Given the description of an element on the screen output the (x, y) to click on. 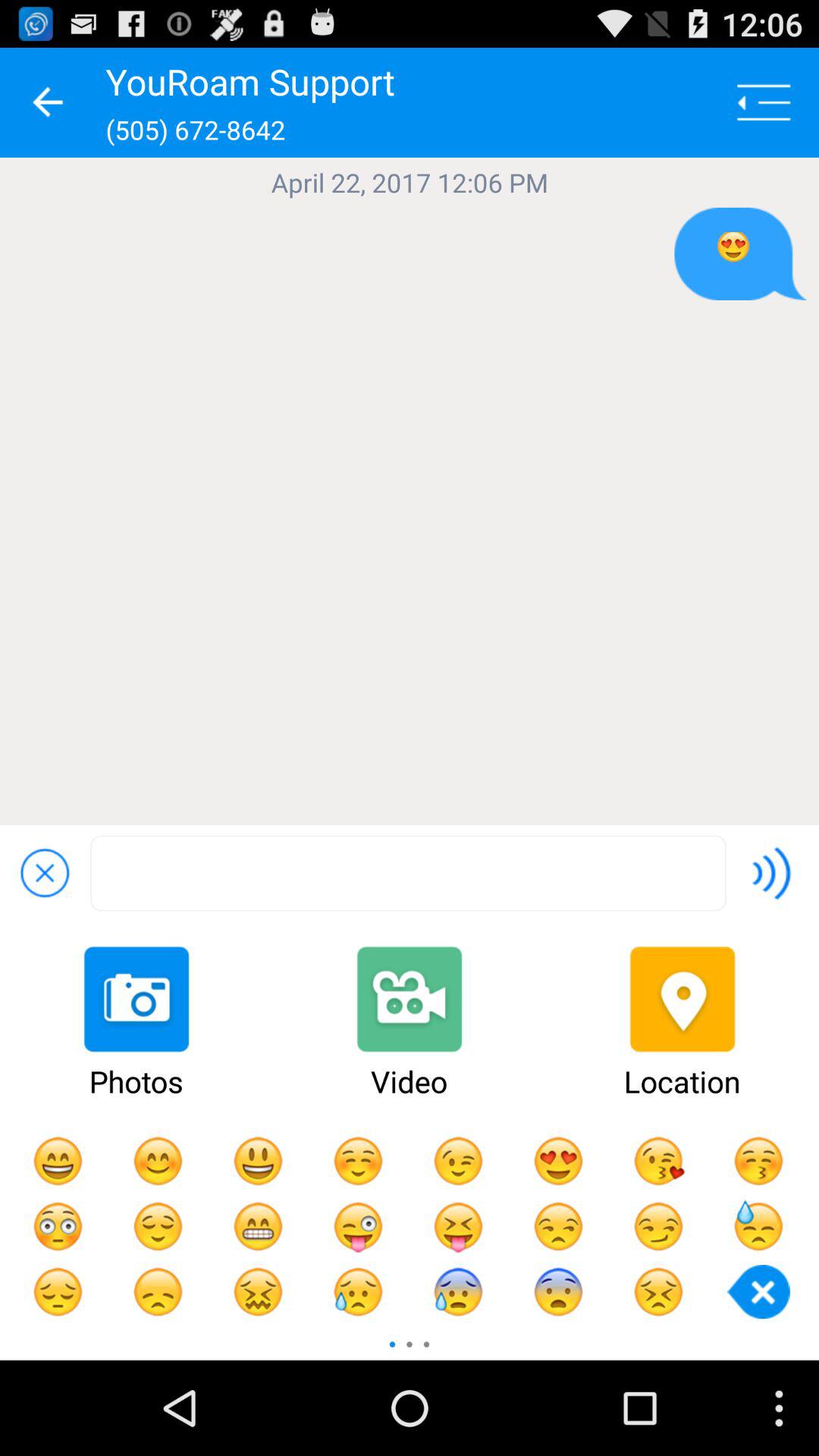
insert text (408, 873)
